Given the description of an element on the screen output the (x, y) to click on. 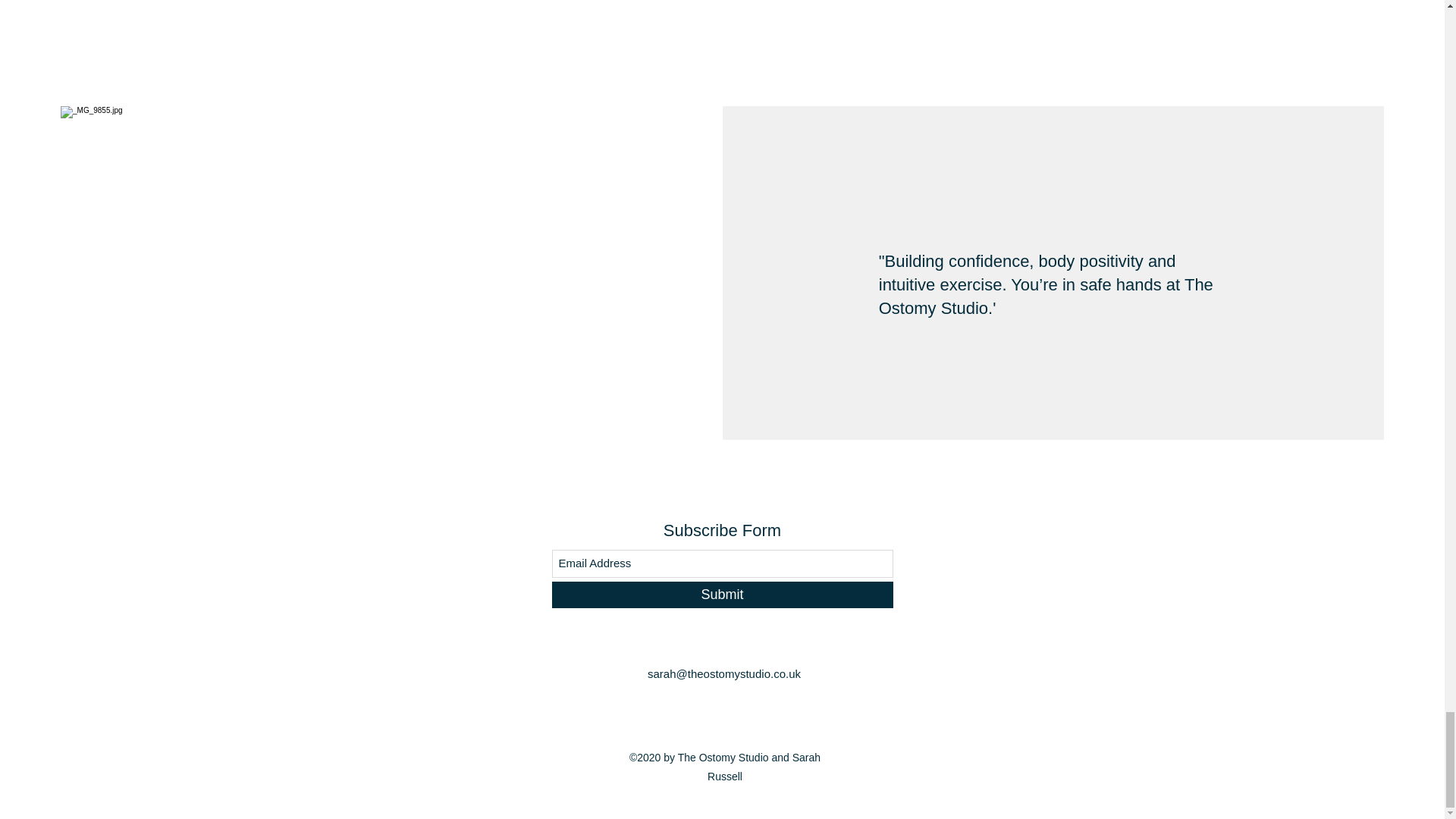
Submit (722, 594)
